Given the description of an element on the screen output the (x, y) to click on. 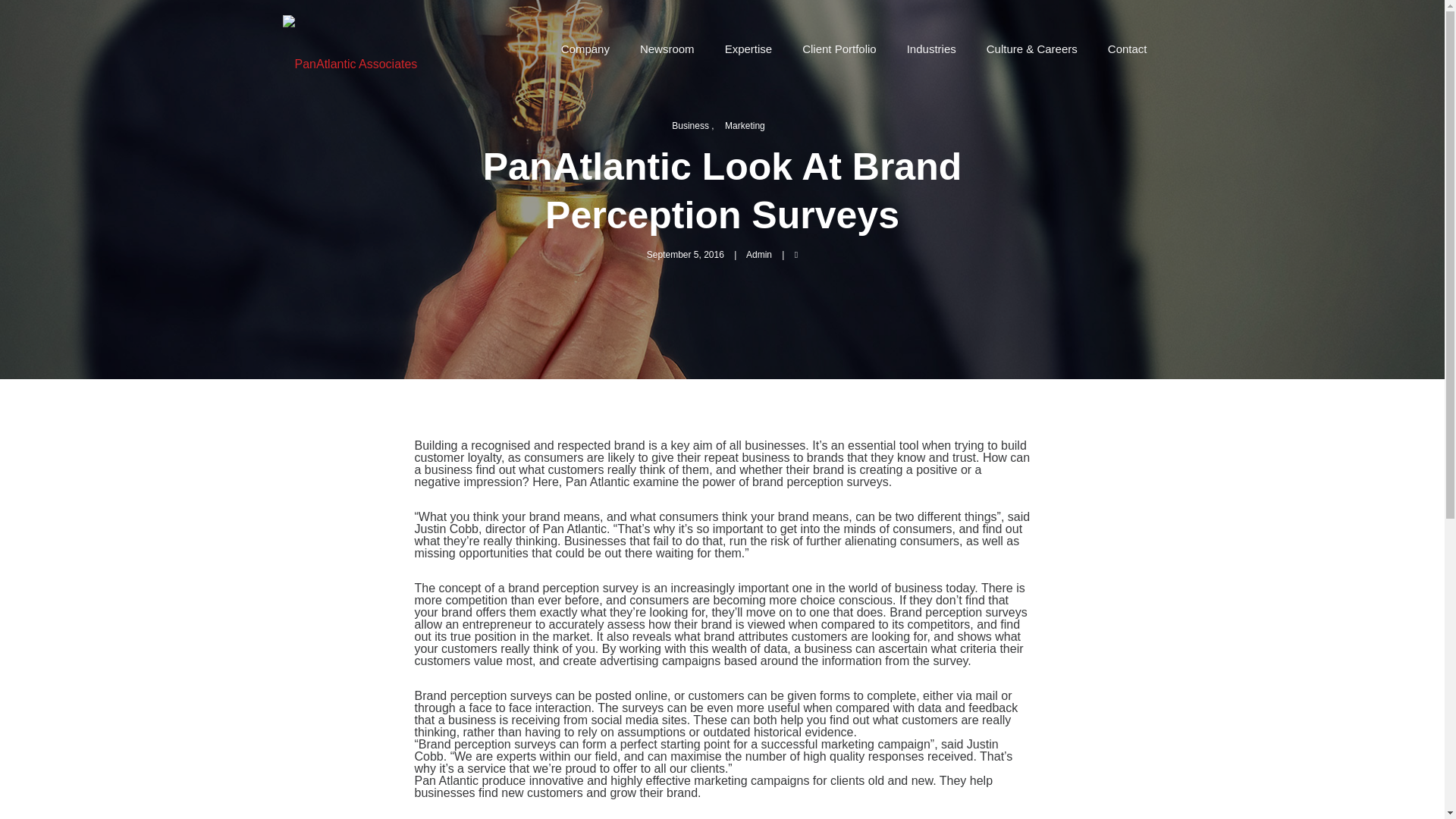
Newsroom (667, 48)
Industries (931, 48)
Expertise (748, 48)
Company (585, 48)
Company (585, 48)
Expertise (748, 48)
Contact (1127, 48)
Client Portfolio (839, 48)
Newsroom (667, 48)
